Given the description of an element on the screen output the (x, y) to click on. 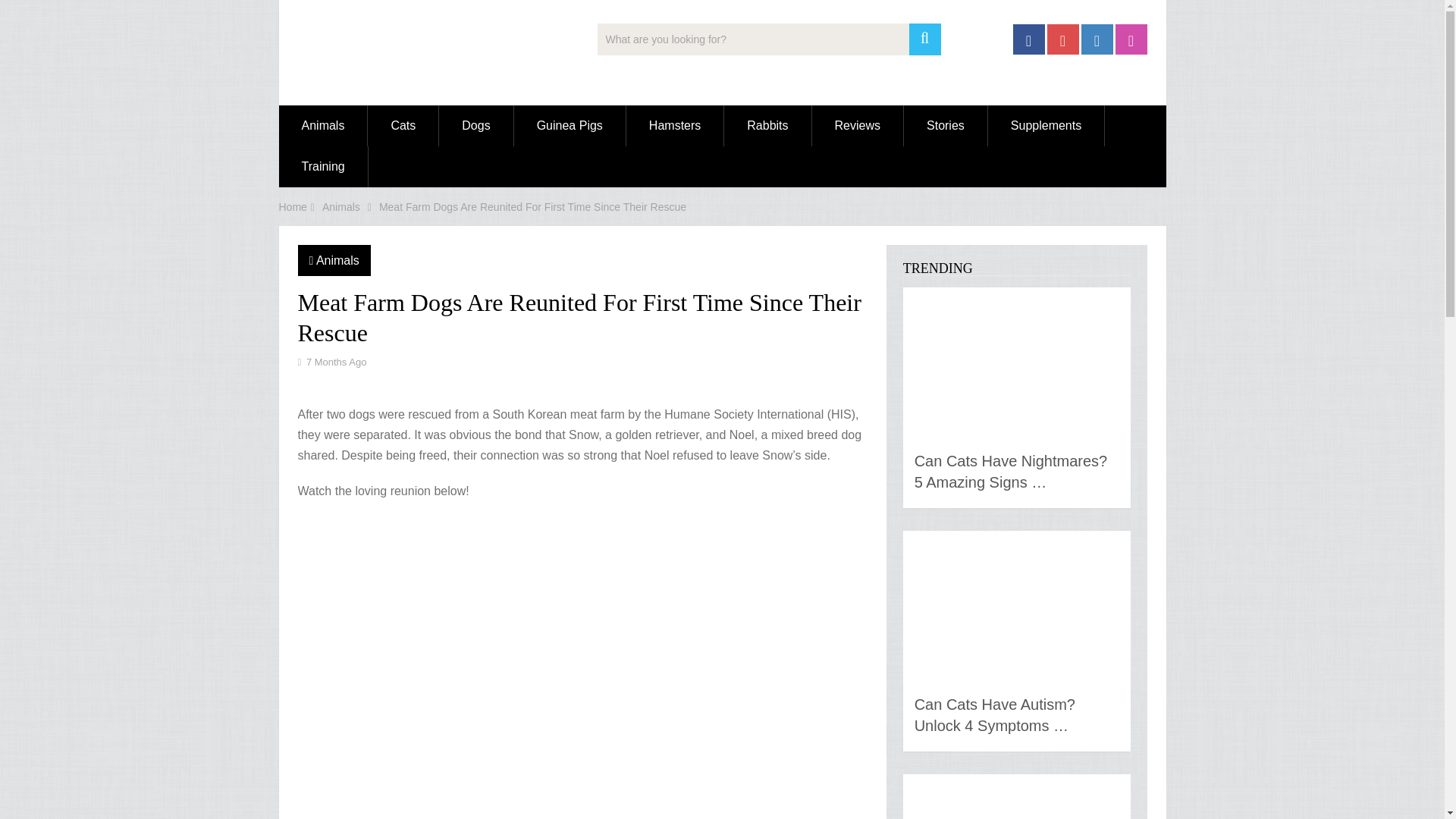
Cats (403, 125)
View all posts in Animals (337, 259)
Stories (945, 125)
Supplements (1045, 125)
Hamsters (674, 125)
Reviews (857, 125)
Animals (337, 259)
Training (323, 166)
Animals (323, 125)
Guinea Pigs (569, 125)
